Given the description of an element on the screen output the (x, y) to click on. 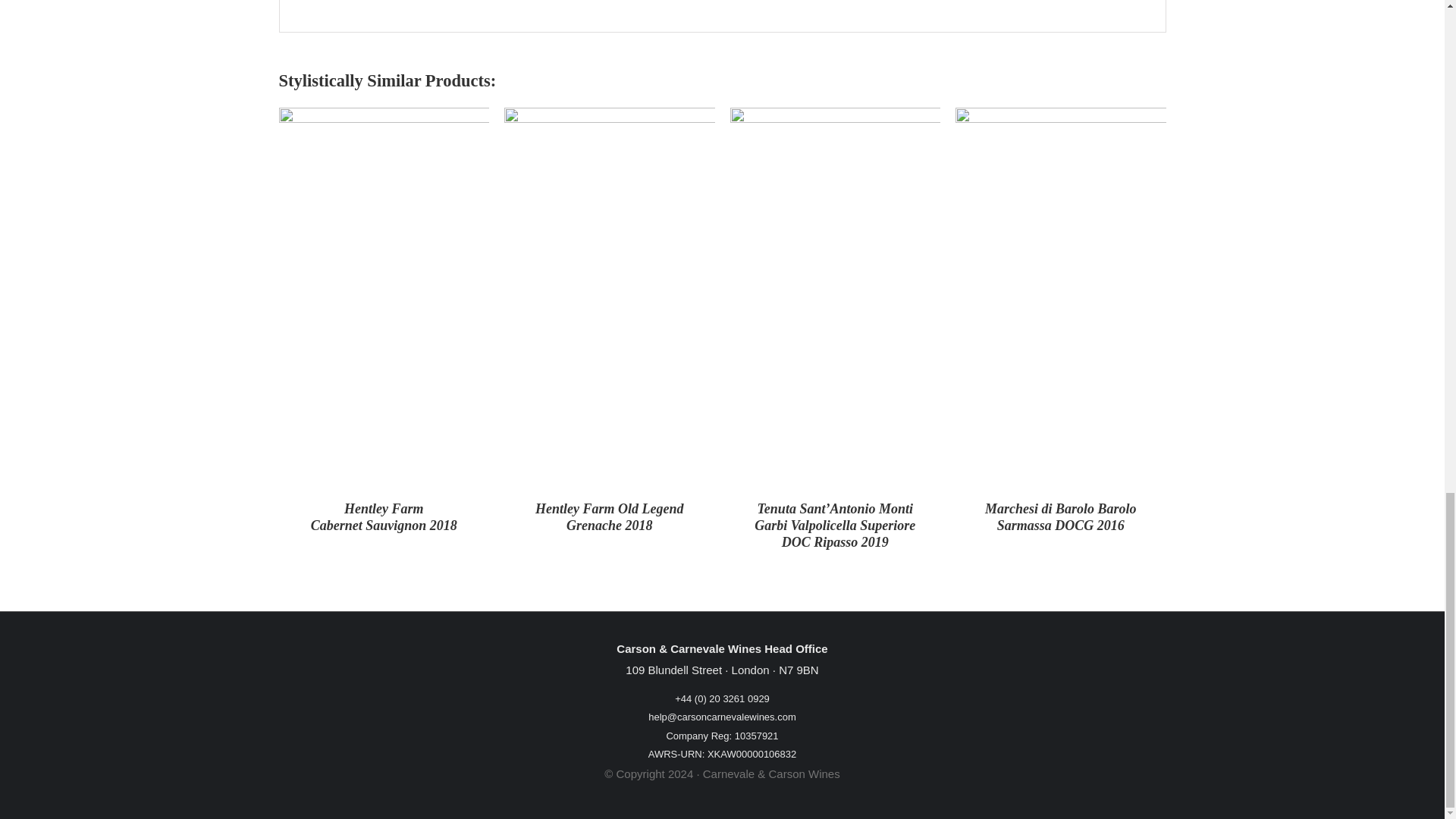
London (751, 670)
Hentley Farm Old Legend Grenache 2018 (608, 517)
109 Blundell Street (674, 670)
Hentley Farm Cabernet Sauvignon 2018 (384, 517)
Marchesi di Barolo Barolo Sarmassa DOCG 2016 (1061, 517)
